Given the description of an element on the screen output the (x, y) to click on. 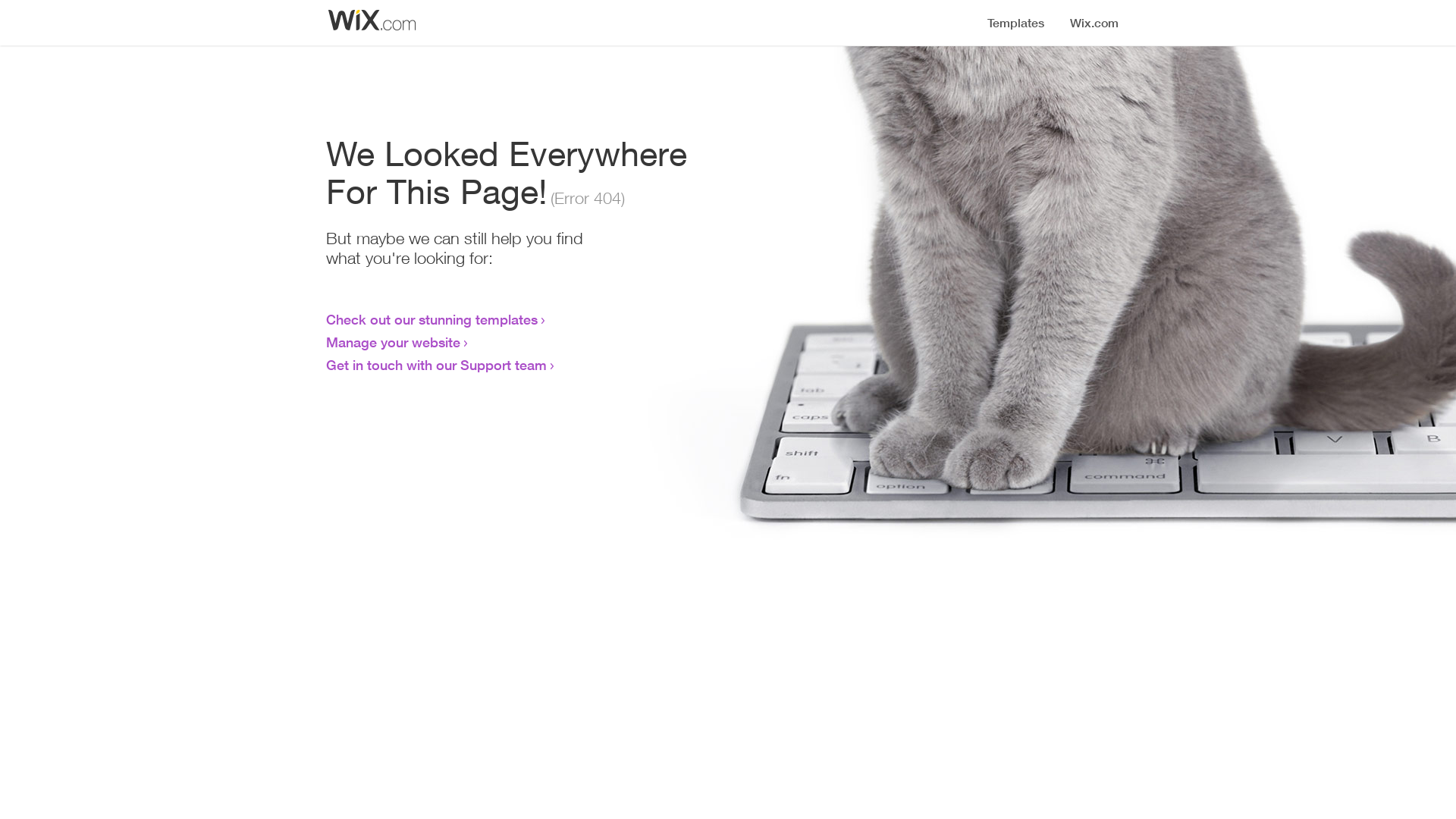
Manage your website Element type: text (393, 341)
Check out our stunning templates Element type: text (431, 318)
Get in touch with our Support team Element type: text (436, 364)
